Given the description of an element on the screen output the (x, y) to click on. 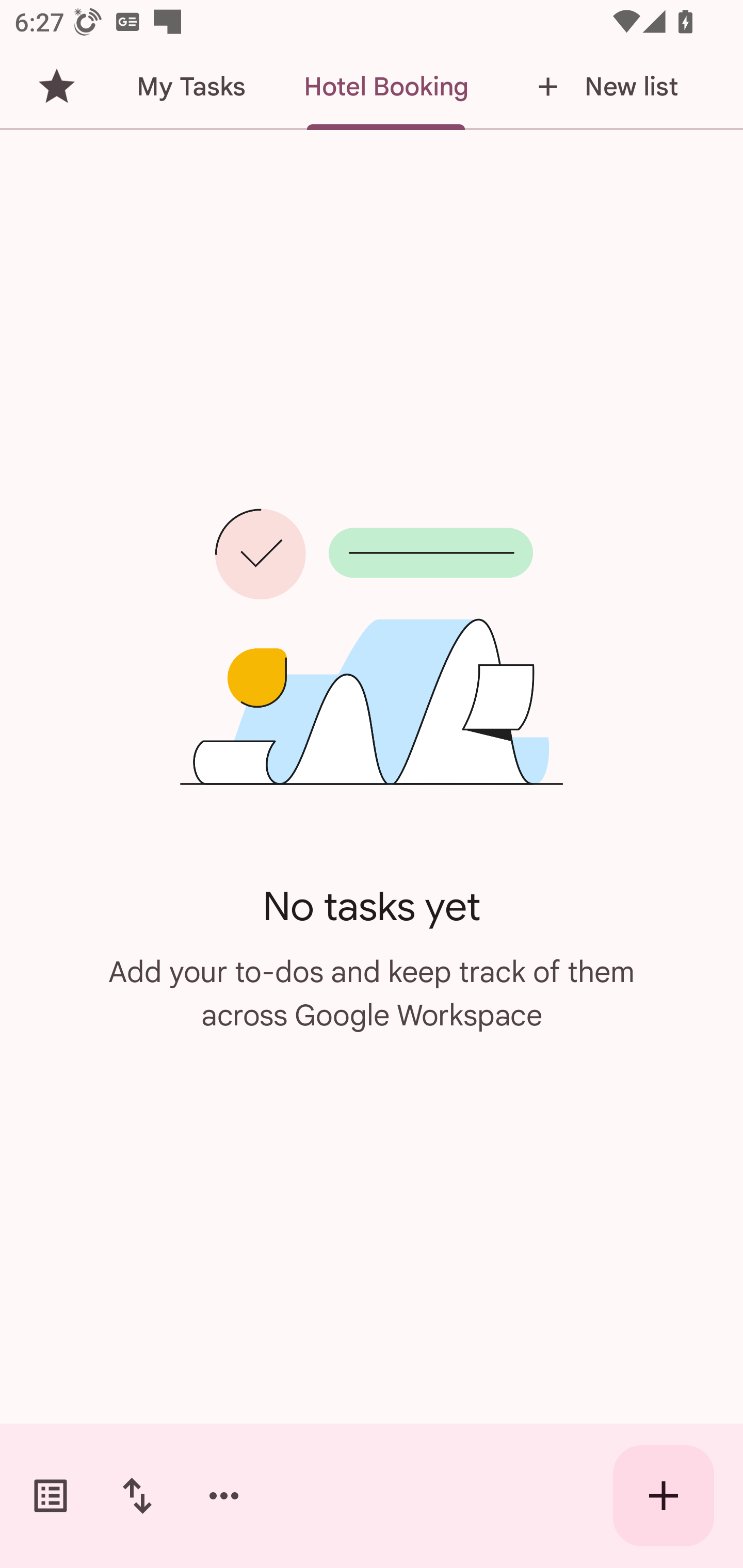
Starred (55, 86)
My Tasks (190, 86)
New list (601, 86)
Switch task lists (50, 1495)
Create new task (663, 1495)
Change sort order (136, 1495)
More options (223, 1495)
